Given the description of an element on the screen output the (x, y) to click on. 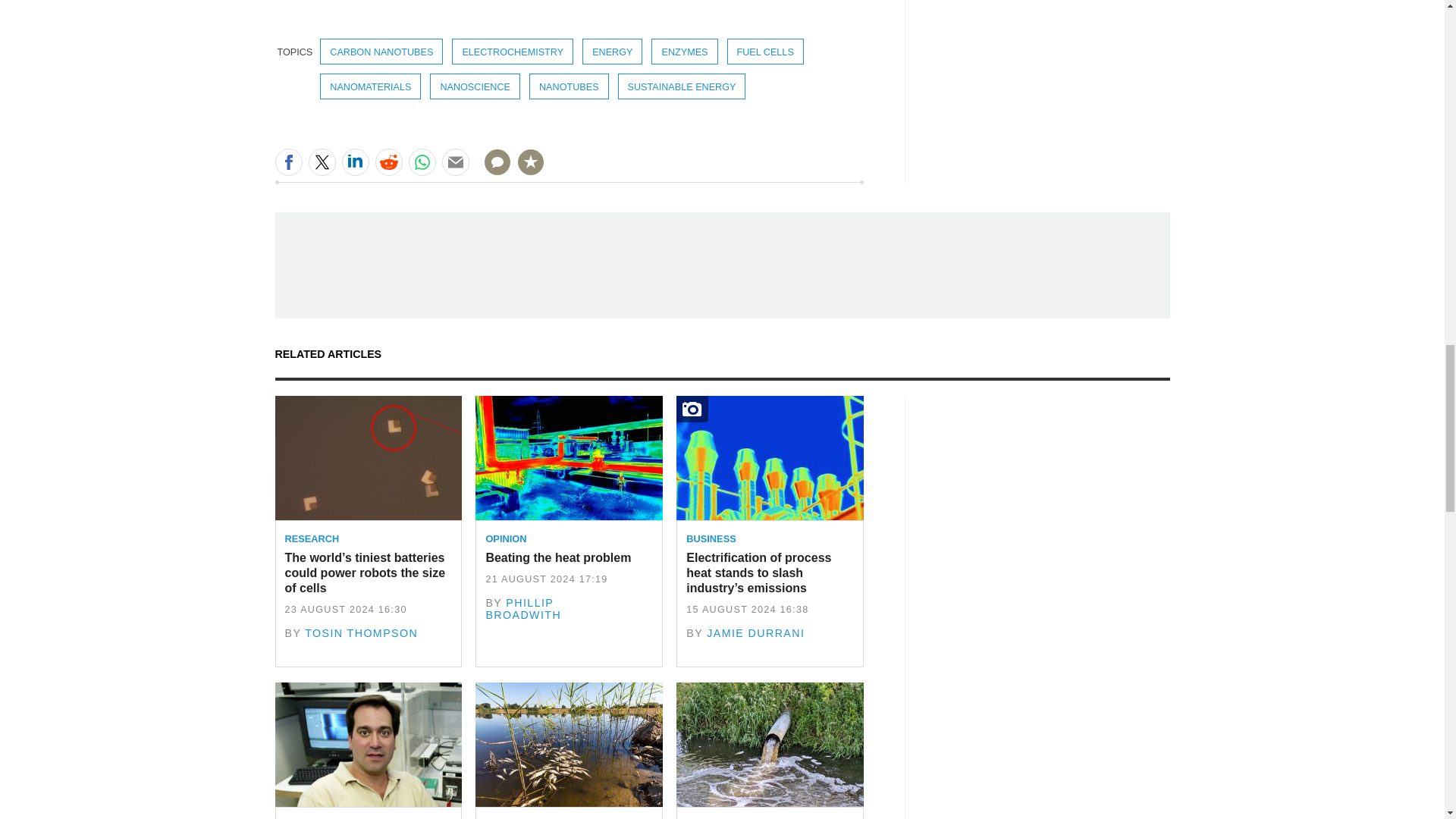
Share this on LinkedIn (354, 162)
Share this on Facebook (288, 162)
Share this on Reddit (387, 162)
Share this by email (454, 162)
Share this on WhatsApp (421, 162)
NO COMMENTS (492, 171)
